Given the description of an element on the screen output the (x, y) to click on. 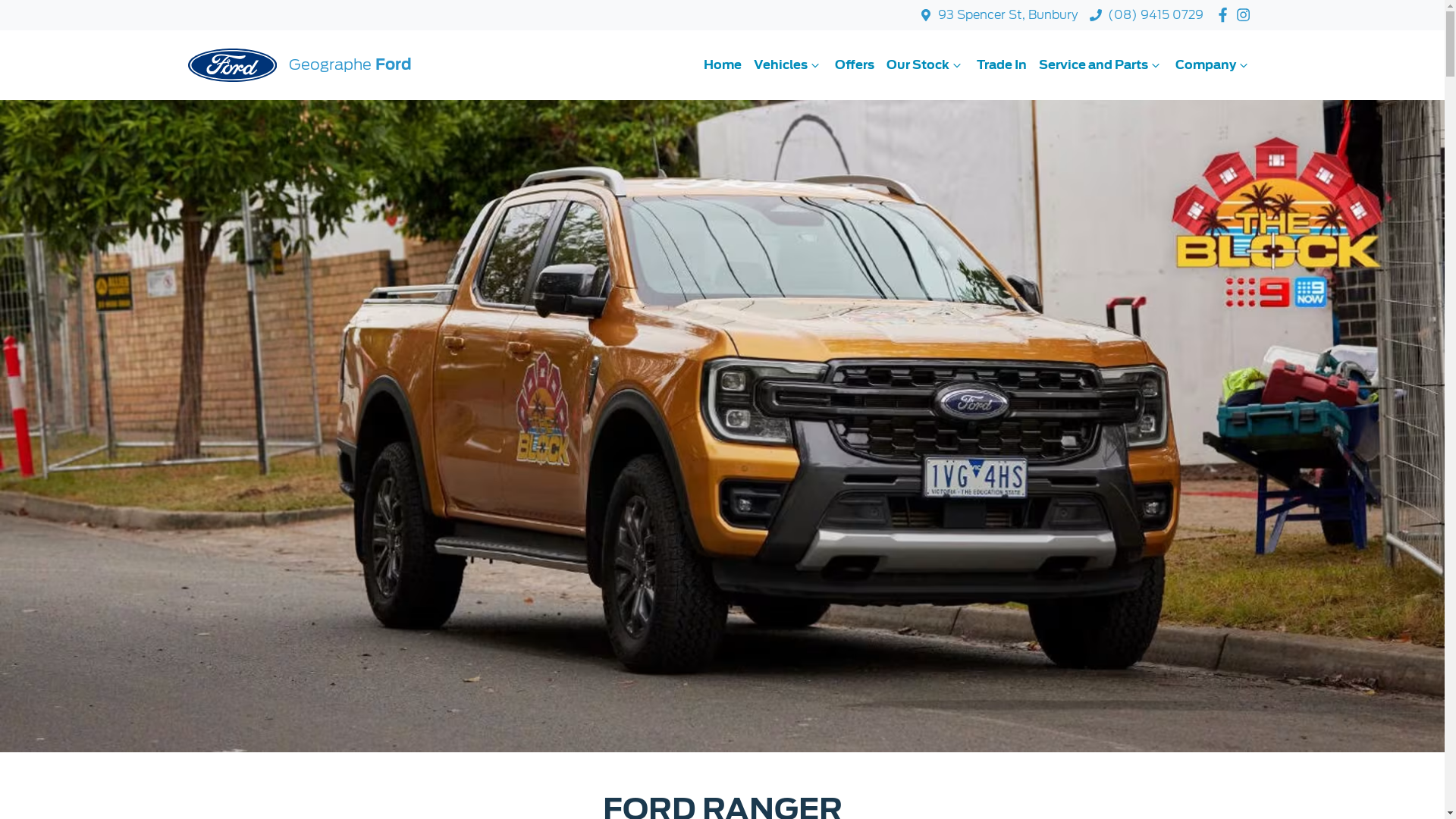
(08) 9415 0729 Element type: text (1155, 14)
Home Element type: text (722, 65)
Service and Parts Element type: text (1100, 65)
Geographe Ford Element type: text (299, 65)
93 Spencer St, Bunbury Element type: text (1007, 14)
Trade In Element type: text (1001, 65)
Vehicles Element type: text (787, 65)
Our Stock Element type: text (924, 65)
Company Element type: text (1213, 65)
Offers Element type: text (853, 65)
